Given the description of an element on the screen output the (x, y) to click on. 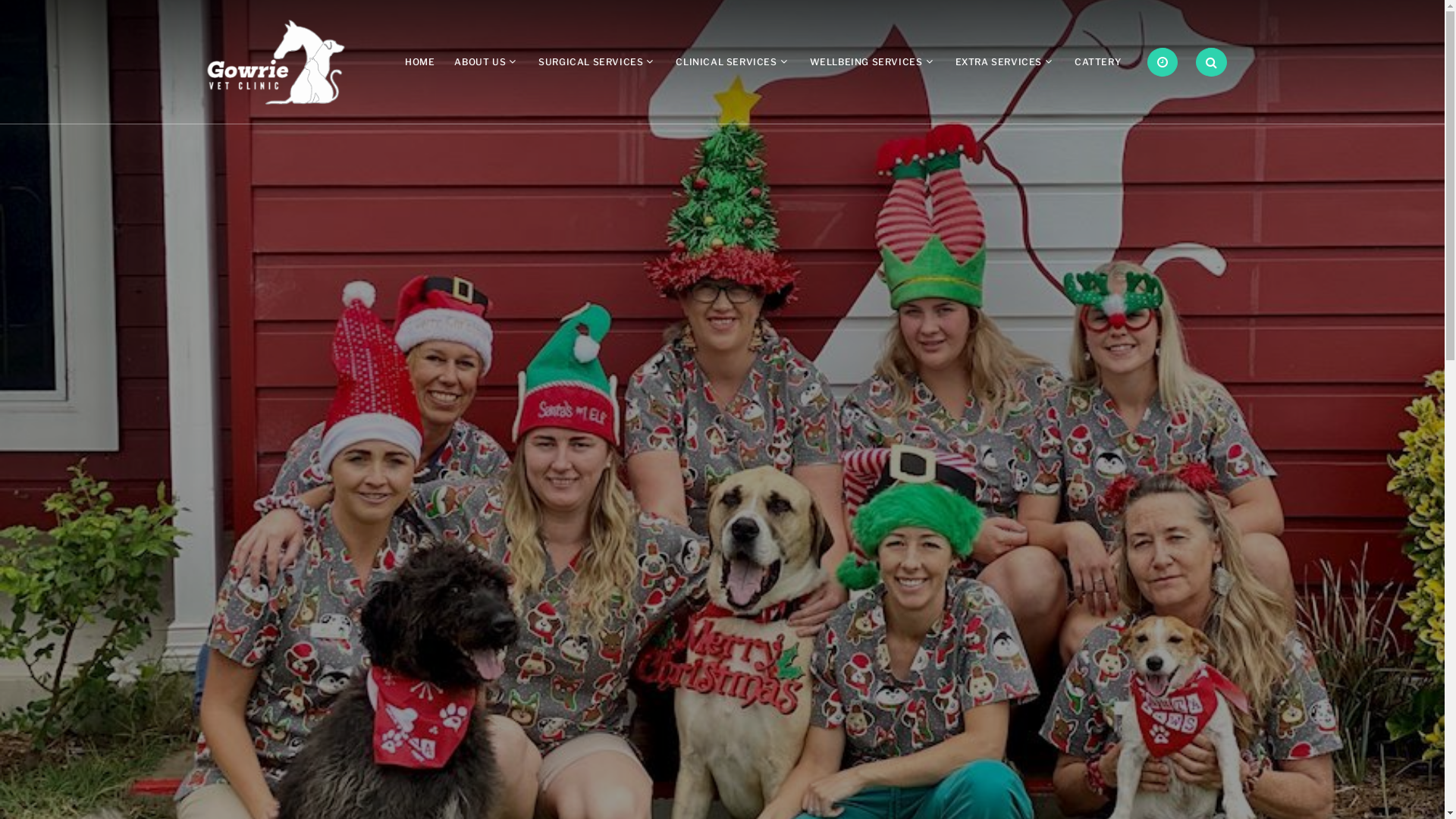
CLINICAL SERVICES Element type: text (725, 61)
WELLBEING SERVICES Element type: text (865, 61)
EXTRA SERVICES Element type: text (998, 61)
CATTERY Element type: text (1097, 61)
SURGICAL SERVICES Element type: text (590, 61)
HOME Element type: text (419, 61)
ABOUT US Element type: text (479, 61)
